Given the description of an element on the screen output the (x, y) to click on. 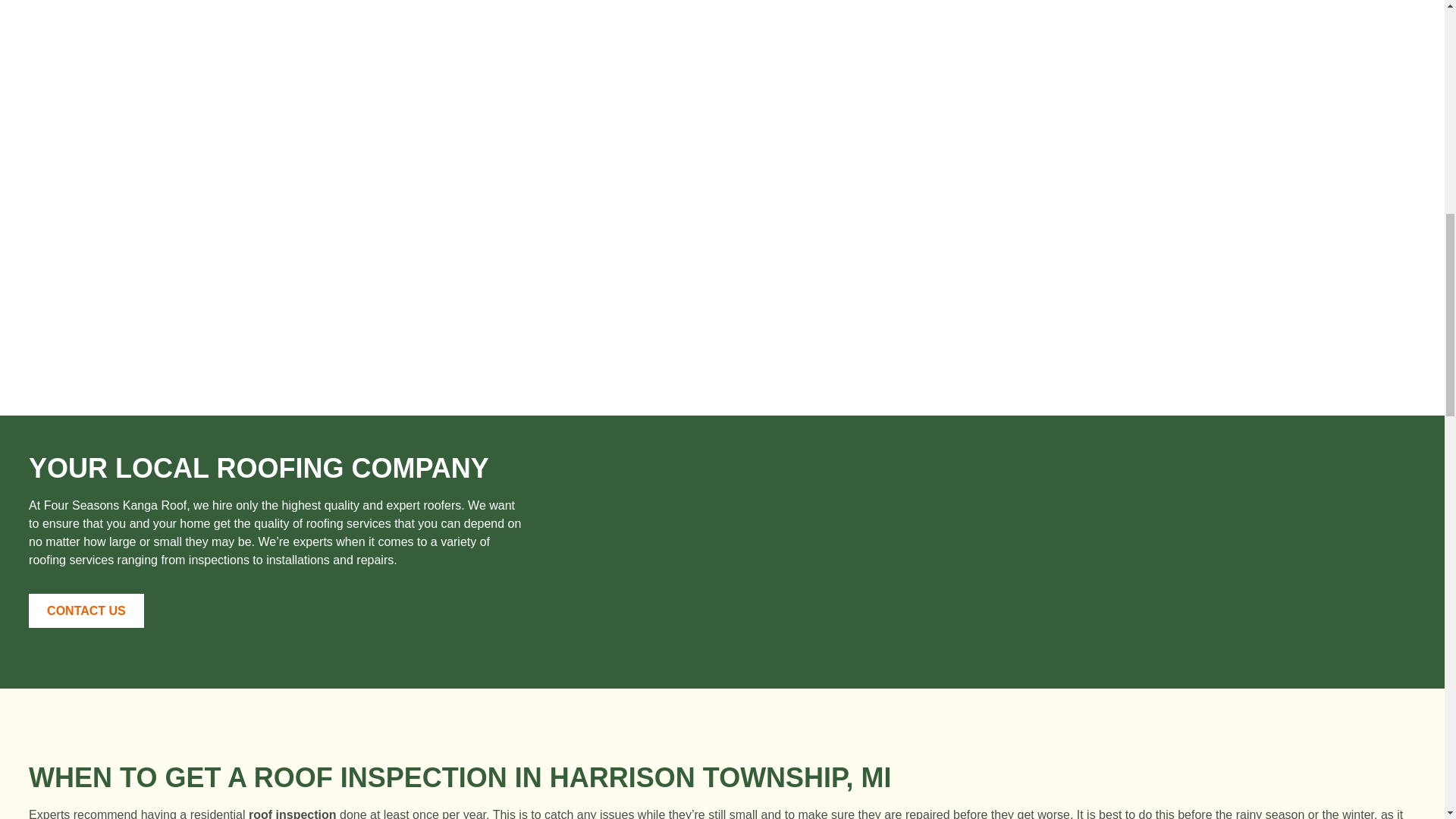
roof inspection (292, 813)
CONTACT US (86, 610)
